Given the description of an element on the screen output the (x, y) to click on. 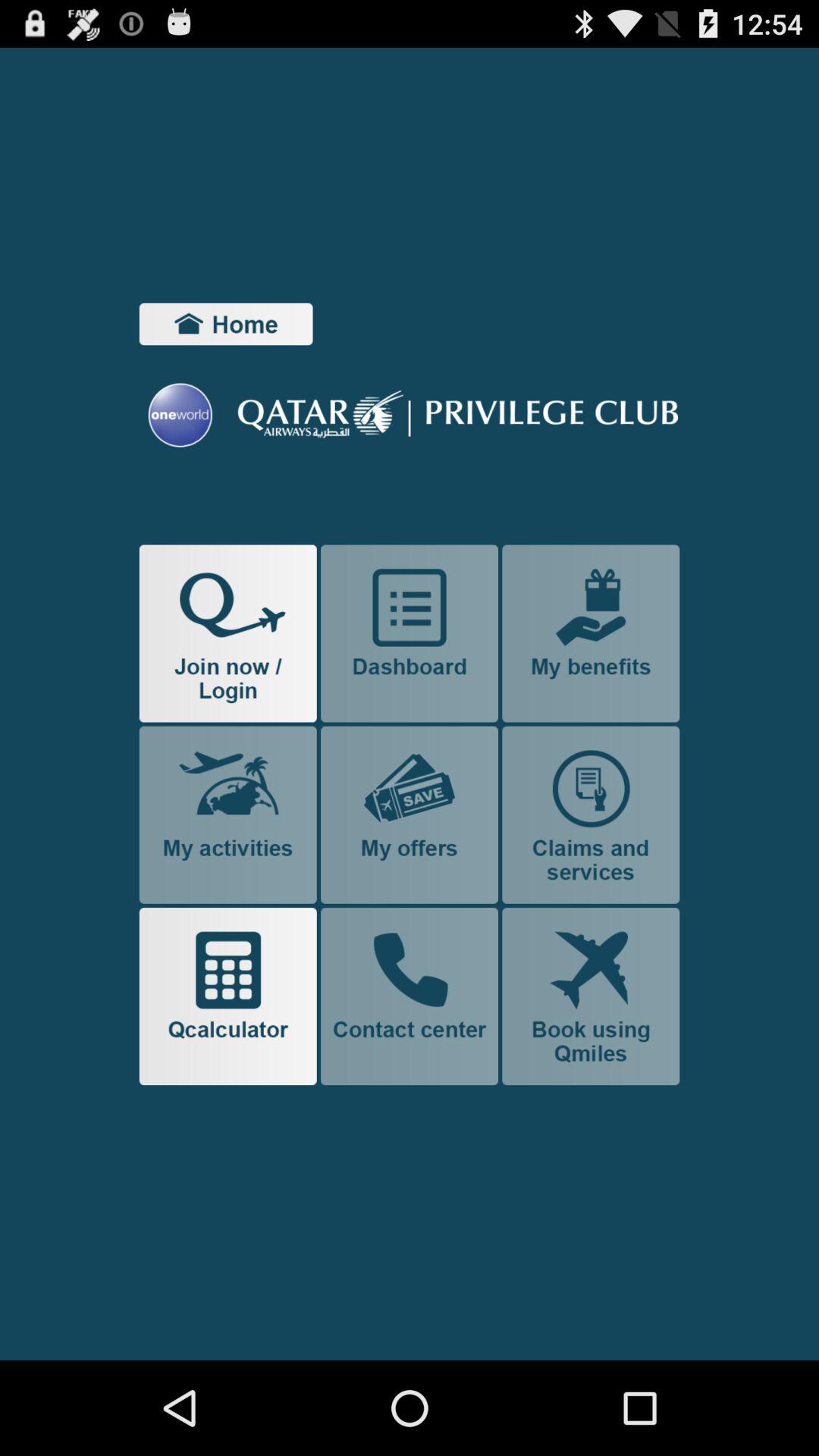
use calculator (227, 996)
